Given the description of an element on the screen output the (x, y) to click on. 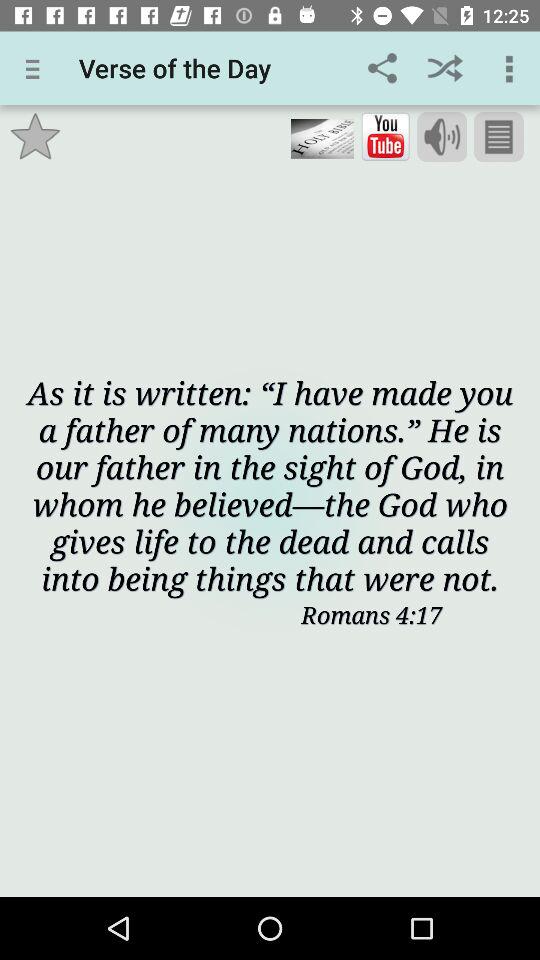
launch icon above the as it is item (498, 137)
